Given the description of an element on the screen output the (x, y) to click on. 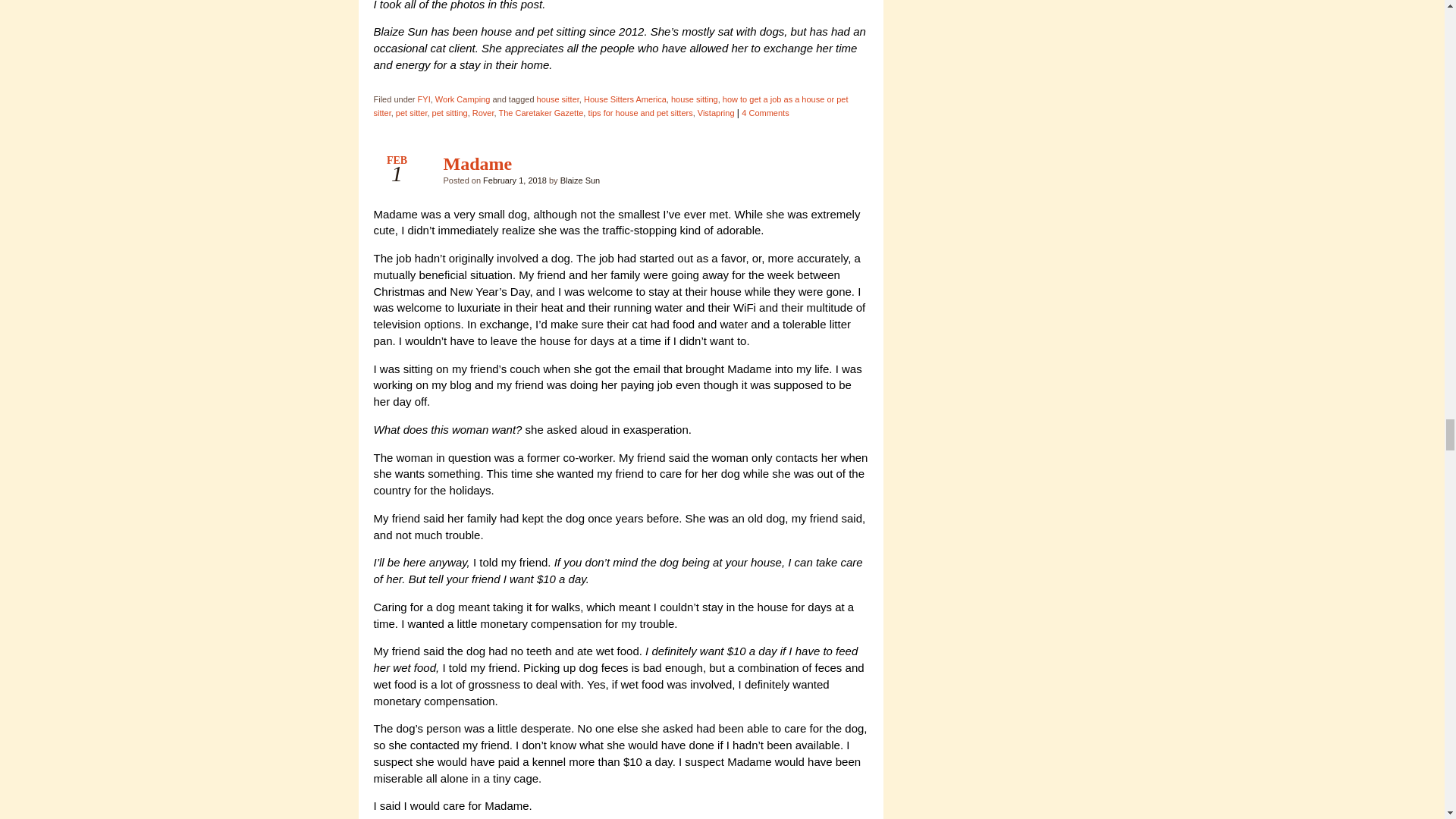
Permalink to Madame (477, 162)
12:48 pm (515, 180)
